Given the description of an element on the screen output the (x, y) to click on. 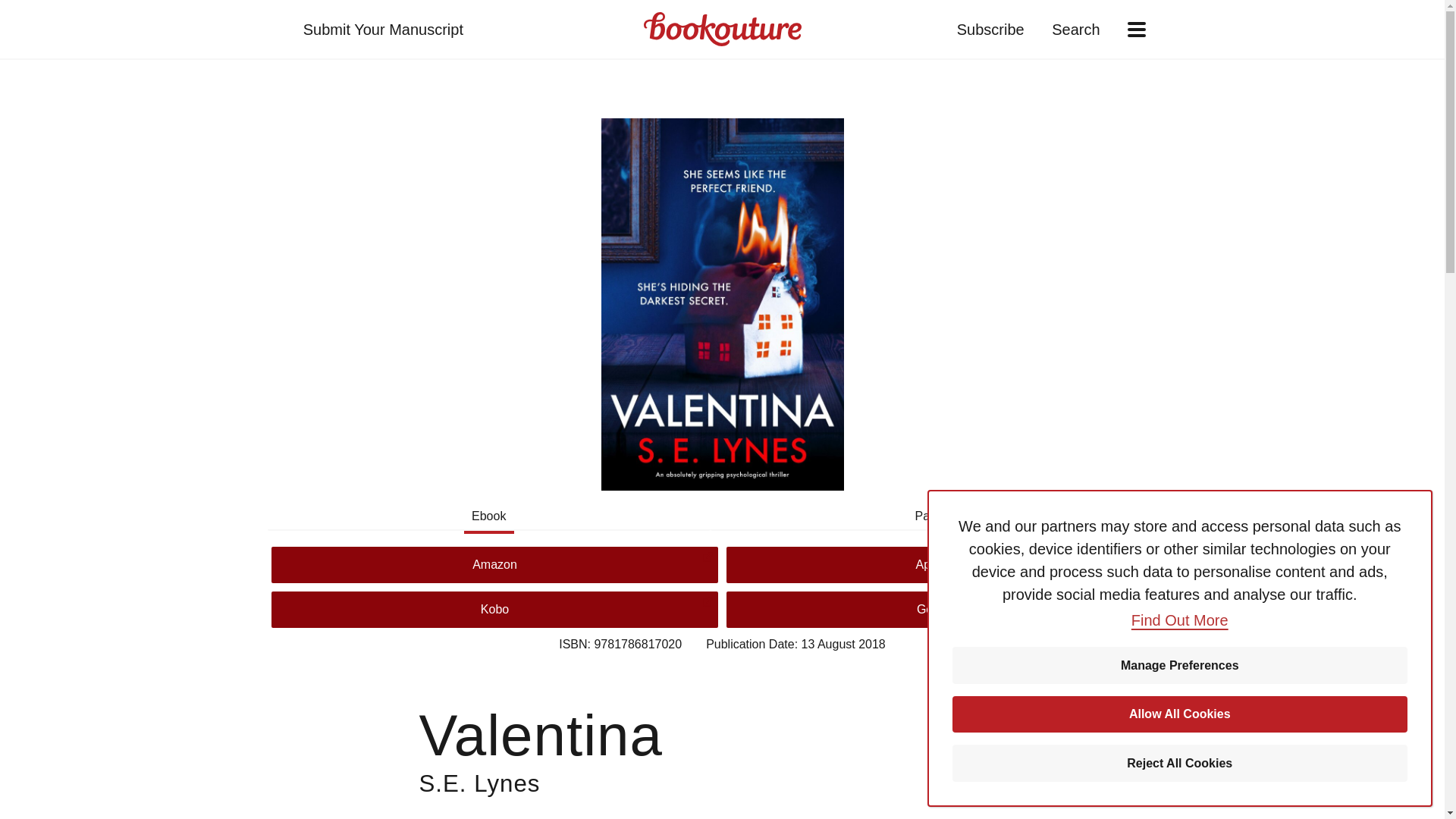
Submit Your Manuscript (382, 29)
Ebook (488, 515)
Kobo (494, 609)
Paperback (943, 515)
Bookouture logo (721, 28)
S.E. Lynes (479, 783)
Amazon (494, 565)
Apple Books (949, 565)
Google Play (949, 609)
